Given the description of an element on the screen output the (x, y) to click on. 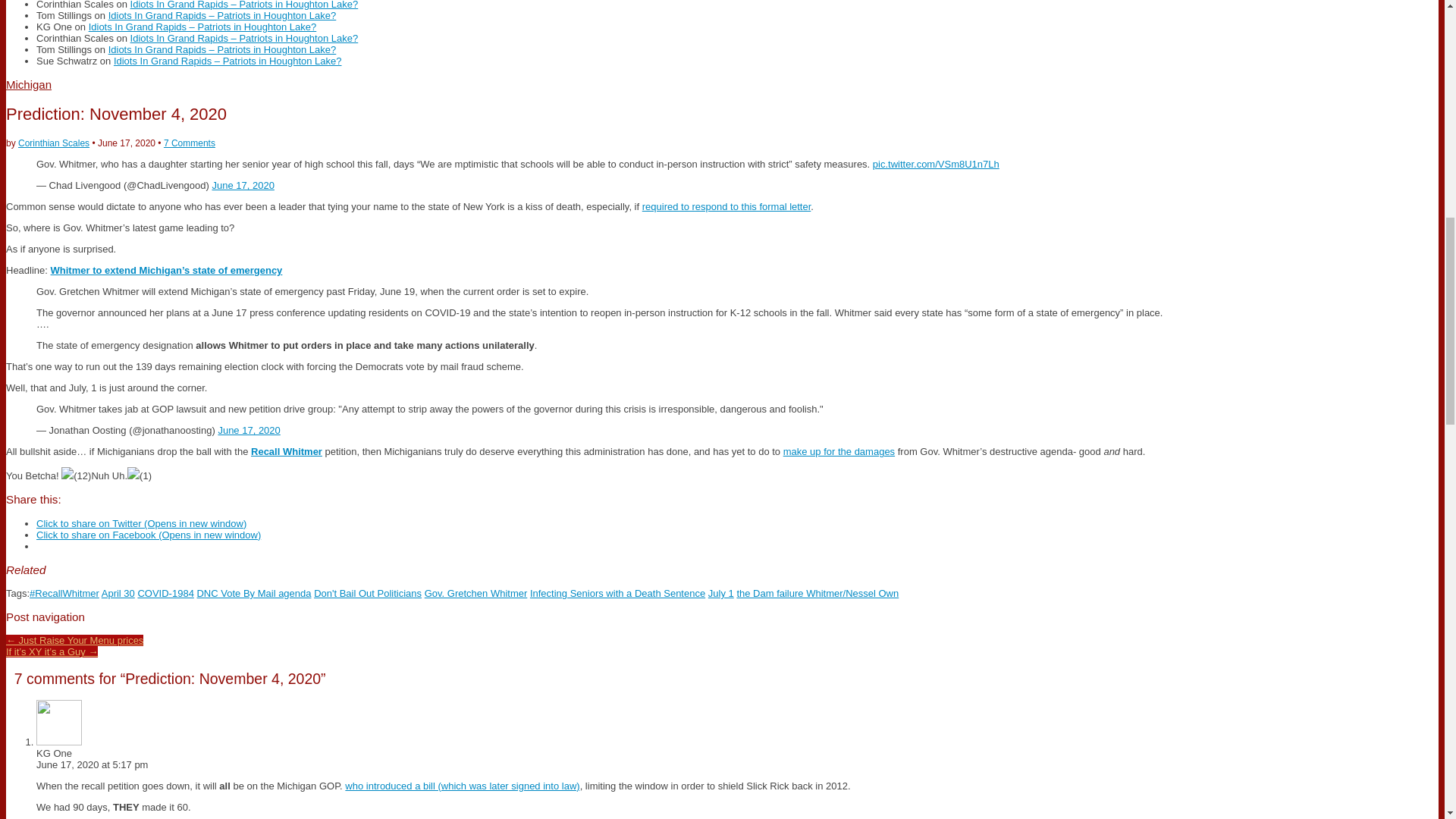
Posts by Corinthian Scales (52, 143)
Click to share on Facebook (148, 534)
Click to share on Twitter (141, 523)
